Given the description of an element on the screen output the (x, y) to click on. 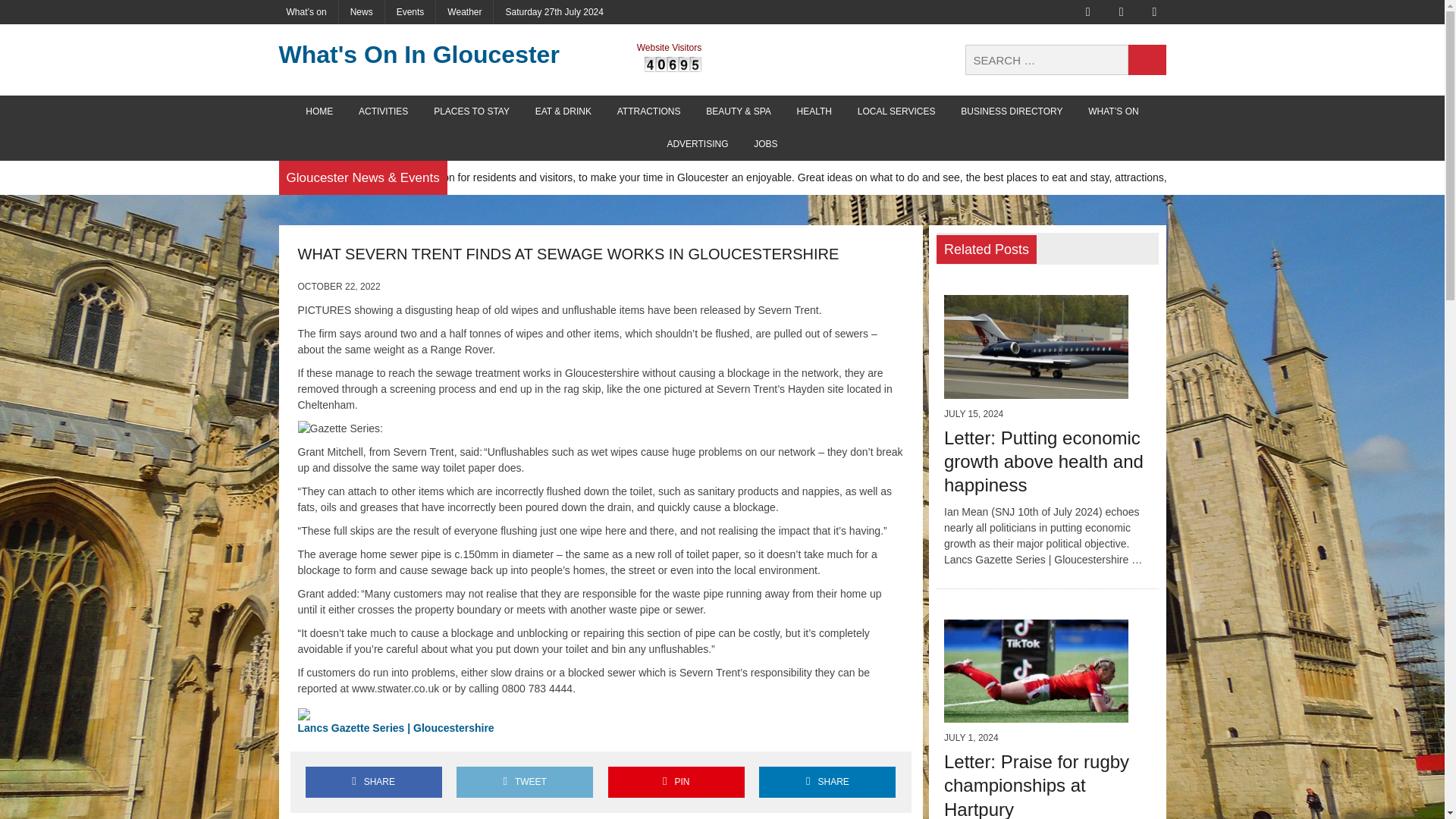
Pin This Post (676, 781)
Letter: Putting economic growth above health and happiness (1042, 461)
Saturday 27th July 2024 (553, 12)
Gazette Series:  (339, 428)
Events (410, 12)
Tweet This Post (524, 781)
Search (1147, 60)
Letter: Praise for rugby championships at Hartpury (1036, 785)
Letter: Putting economic growth above health and happiness (1035, 390)
Search (1147, 60)
Weather (464, 12)
Share on Facebook (372, 781)
Website Visitors (673, 64)
What'S On In Gloucester (419, 55)
Letter: Praise for rugby championships at Hartpury (1035, 714)
